Given the description of an element on the screen output the (x, y) to click on. 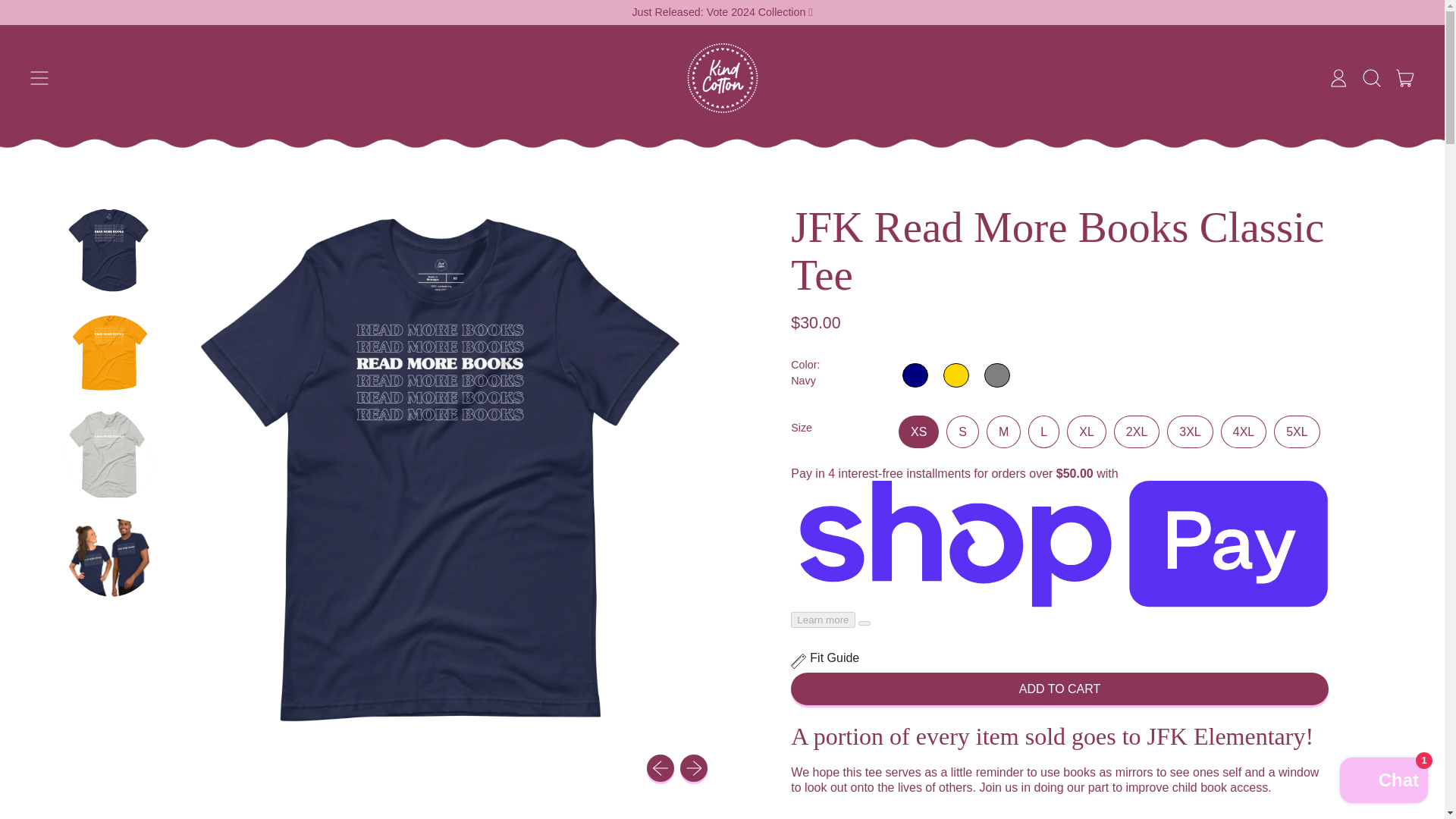
Shopify online store chat (1405, 78)
Menu (1383, 781)
Next slide (38, 78)
Previous slide (692, 768)
Log in (659, 768)
Search our site (1338, 78)
ADD TO CART (1372, 78)
